Given the description of an element on the screen output the (x, y) to click on. 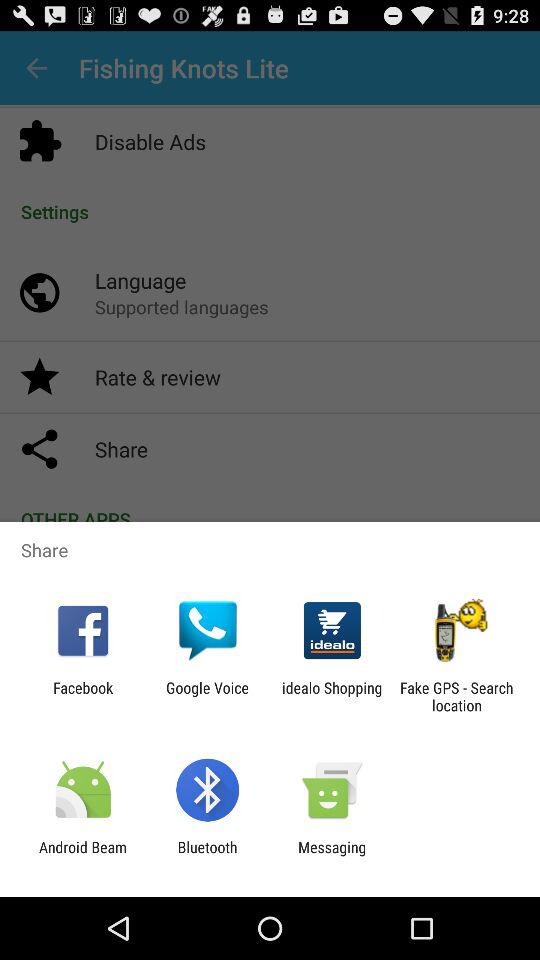
launch item next to the google voice item (331, 696)
